Given the description of an element on the screen output the (x, y) to click on. 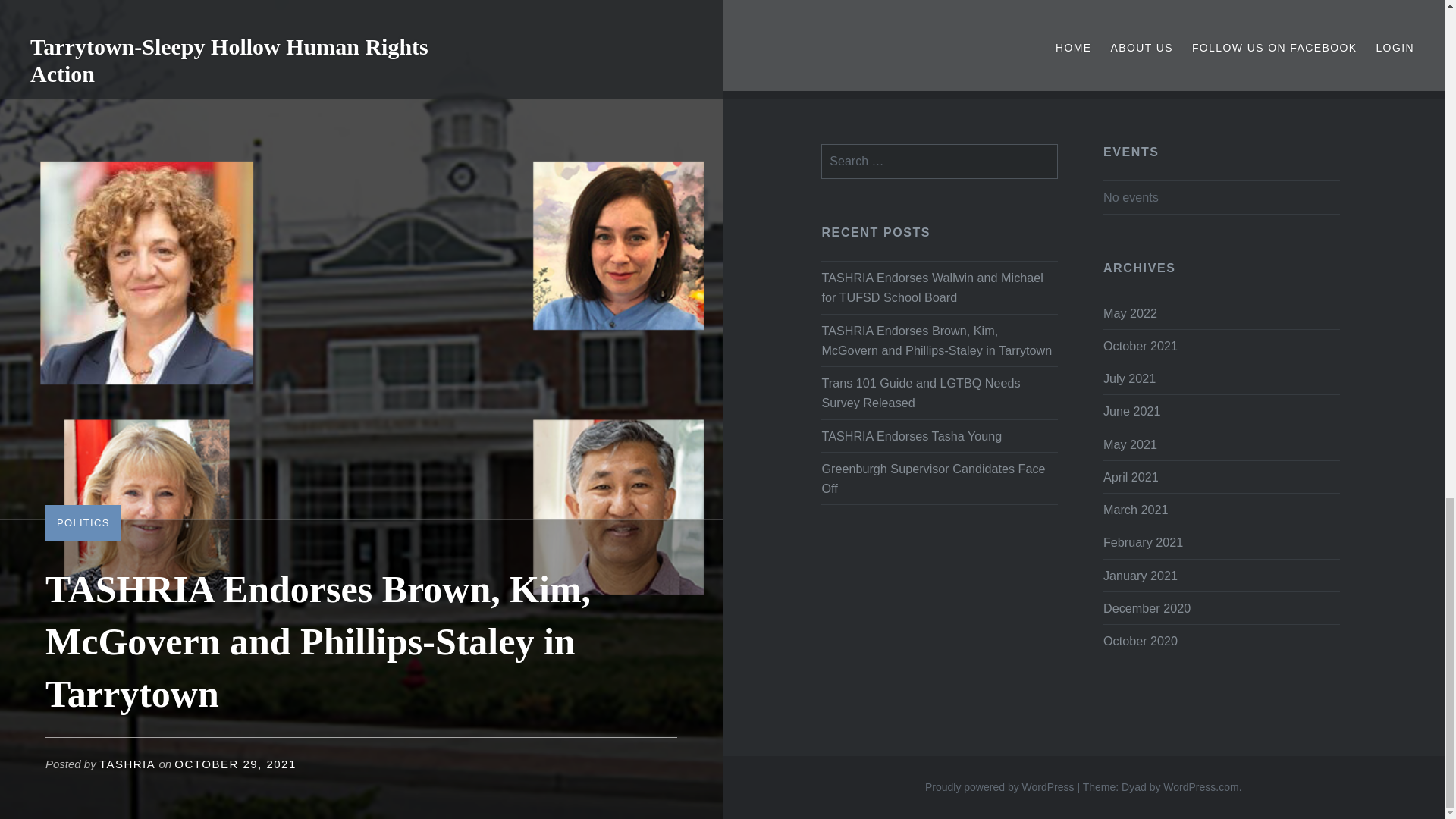
March 2021 (1135, 509)
Greenburgh Supervisor Candidates Face Off (939, 477)
July 2021 (1129, 377)
May 2022 (1130, 313)
Trans 101 Guide and LGTBQ Needs Survey Released (939, 392)
June 2021 (1131, 410)
October 2021 (1140, 345)
April 2021 (1130, 477)
May 2021 (1130, 444)
TASHRIA Endorses Tasha Young (939, 435)
TASHRIA Endorses Wallwin and Michael for TUFSD School Board (939, 287)
